Given the description of an element on the screen output the (x, y) to click on. 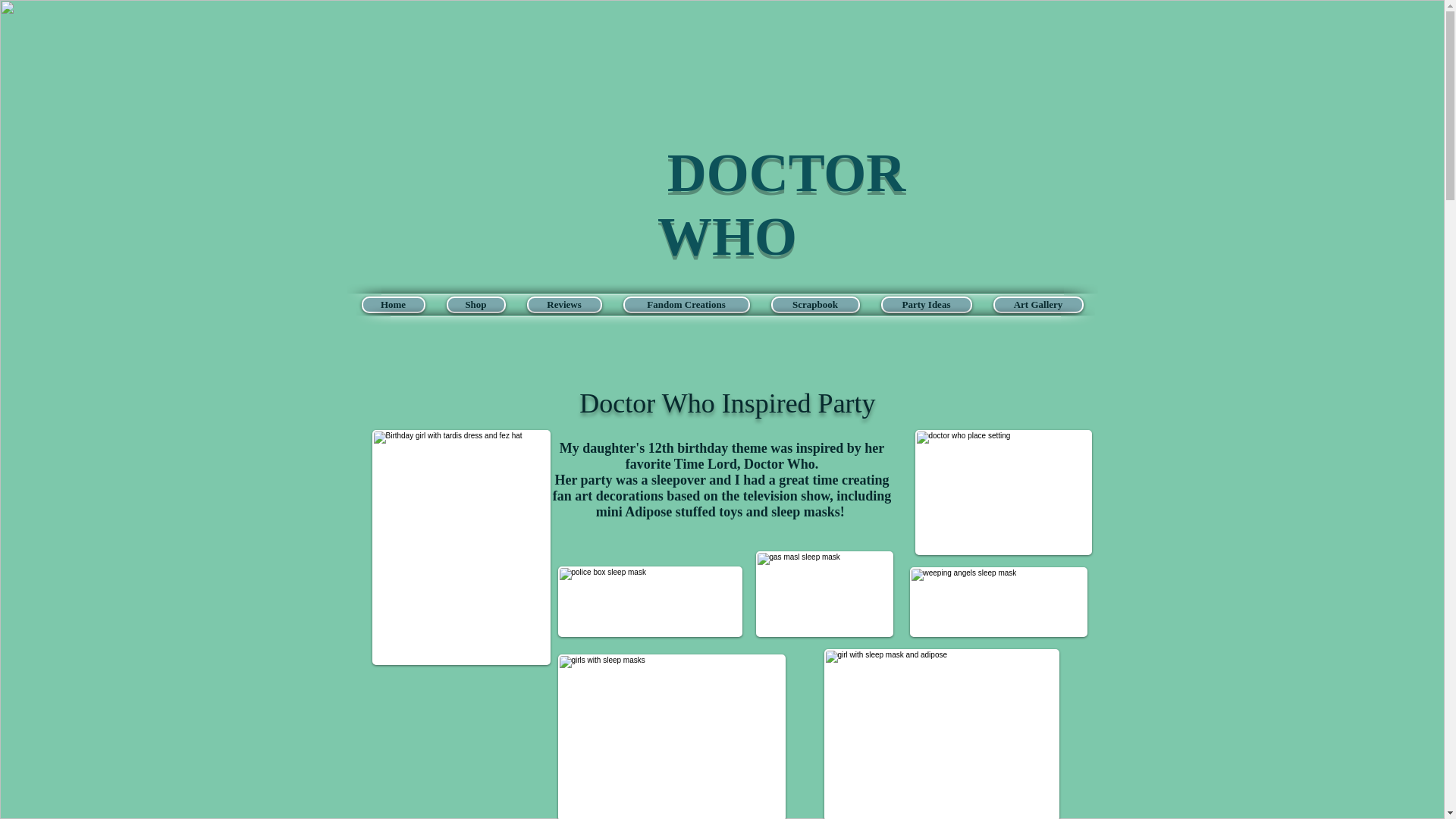
Scrapbook (814, 304)
Fandom Creations (686, 304)
DSCF9258.JPG (998, 602)
DSCF9459.JPG (671, 736)
Home (393, 304)
DSCF9263.JPG (823, 594)
Art Gallery (1037, 304)
Reviews (563, 304)
DSCF9259.JPG (649, 601)
DSCF9455.JPG (941, 734)
